Given the description of an element on the screen output the (x, y) to click on. 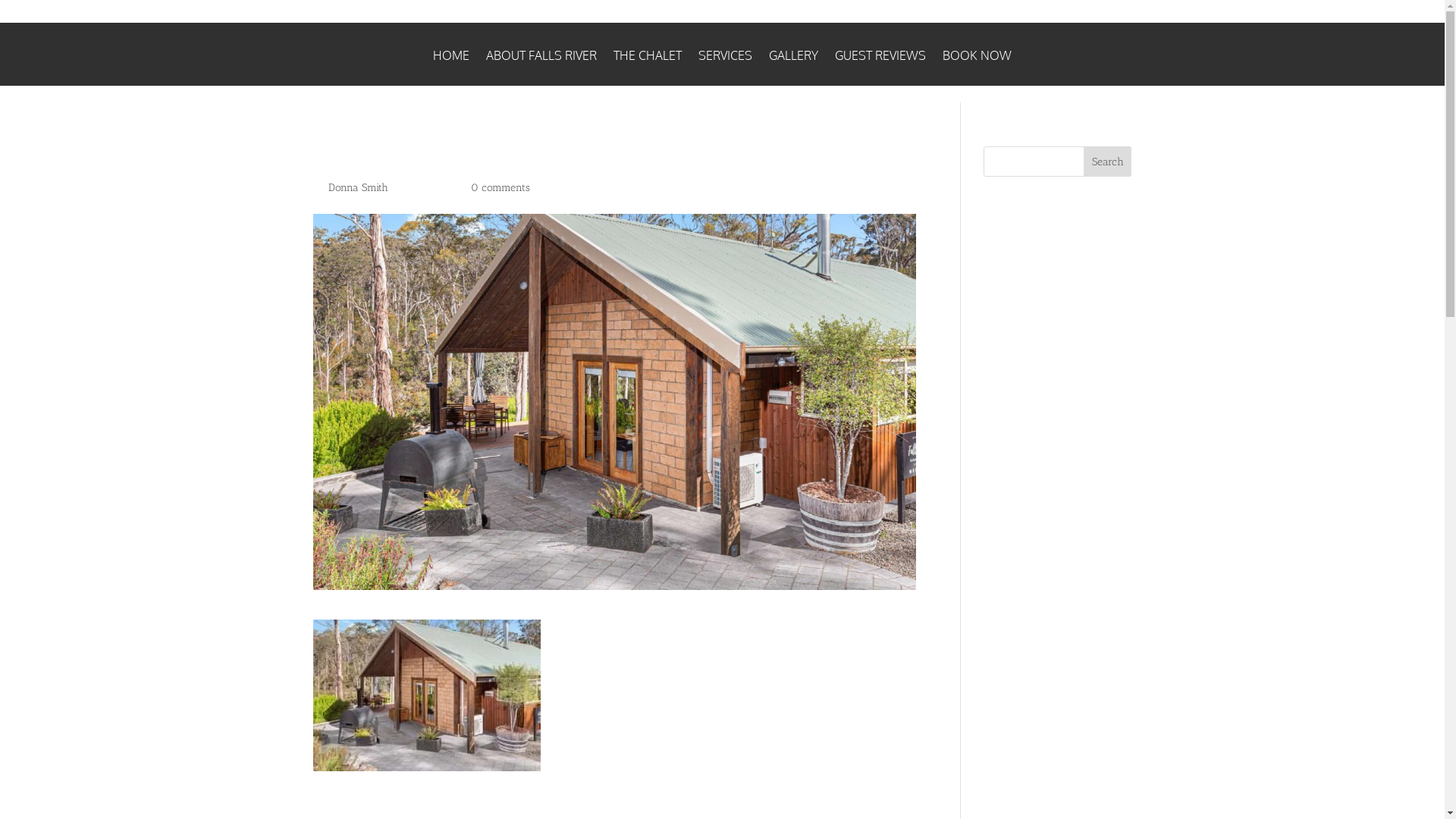
GUEST REVIEWS Element type: text (879, 66)
THE CHALET Element type: text (647, 66)
0 comments Element type: text (499, 187)
SERVICES Element type: text (725, 66)
GALLERY Element type: text (793, 66)
Donna Smith Element type: text (357, 187)
ABOUT FALLS RIVER Element type: text (541, 66)
BOOK NOW Element type: text (976, 66)
Search Element type: text (1107, 161)
HOME Element type: text (451, 66)
